Given the description of an element on the screen output the (x, y) to click on. 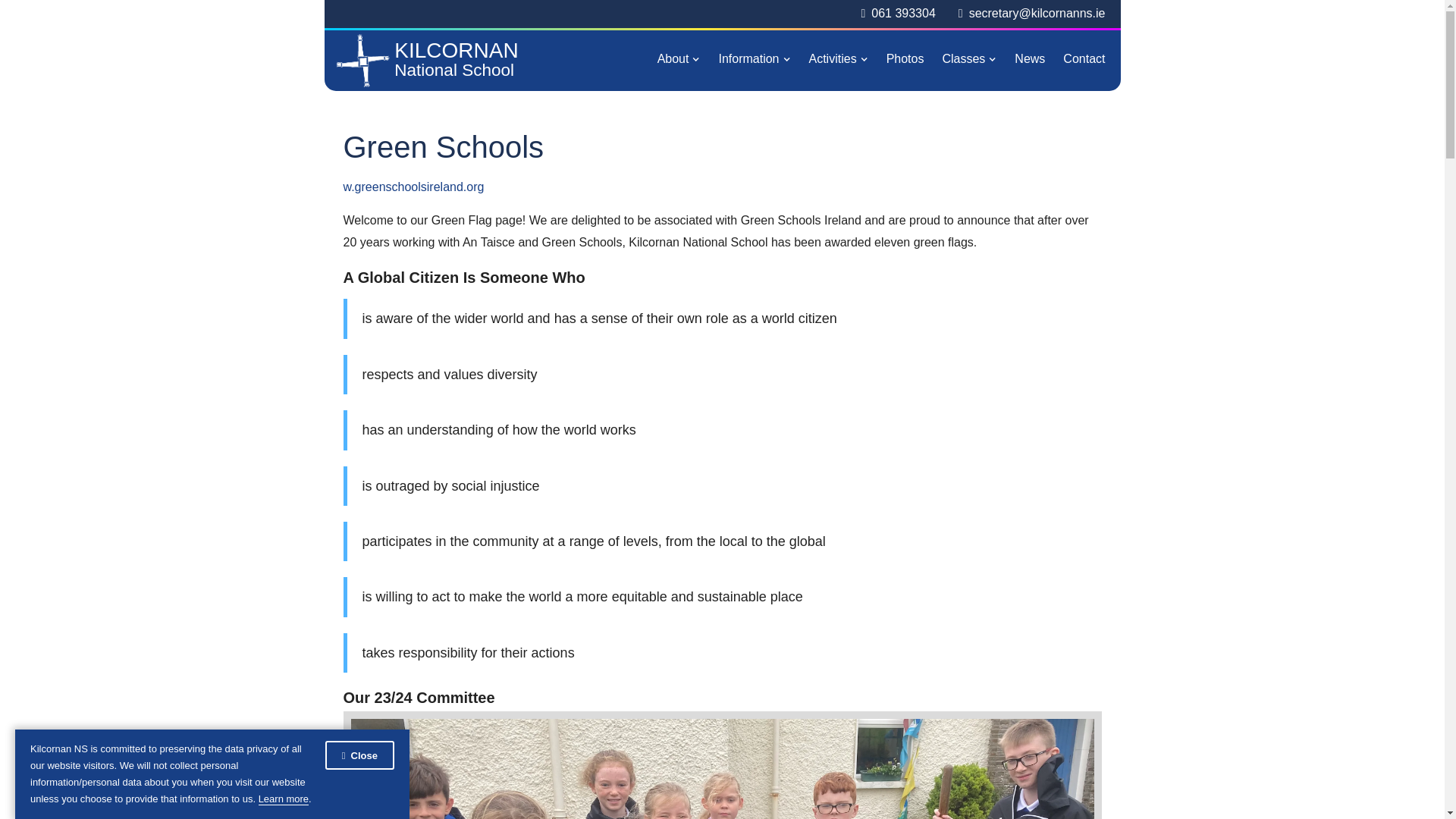
Learn more (283, 798)
w.greenschoolsireland.org (412, 186)
Photos (905, 58)
News (1030, 58)
Contact (433, 60)
